Given the description of an element on the screen output the (x, y) to click on. 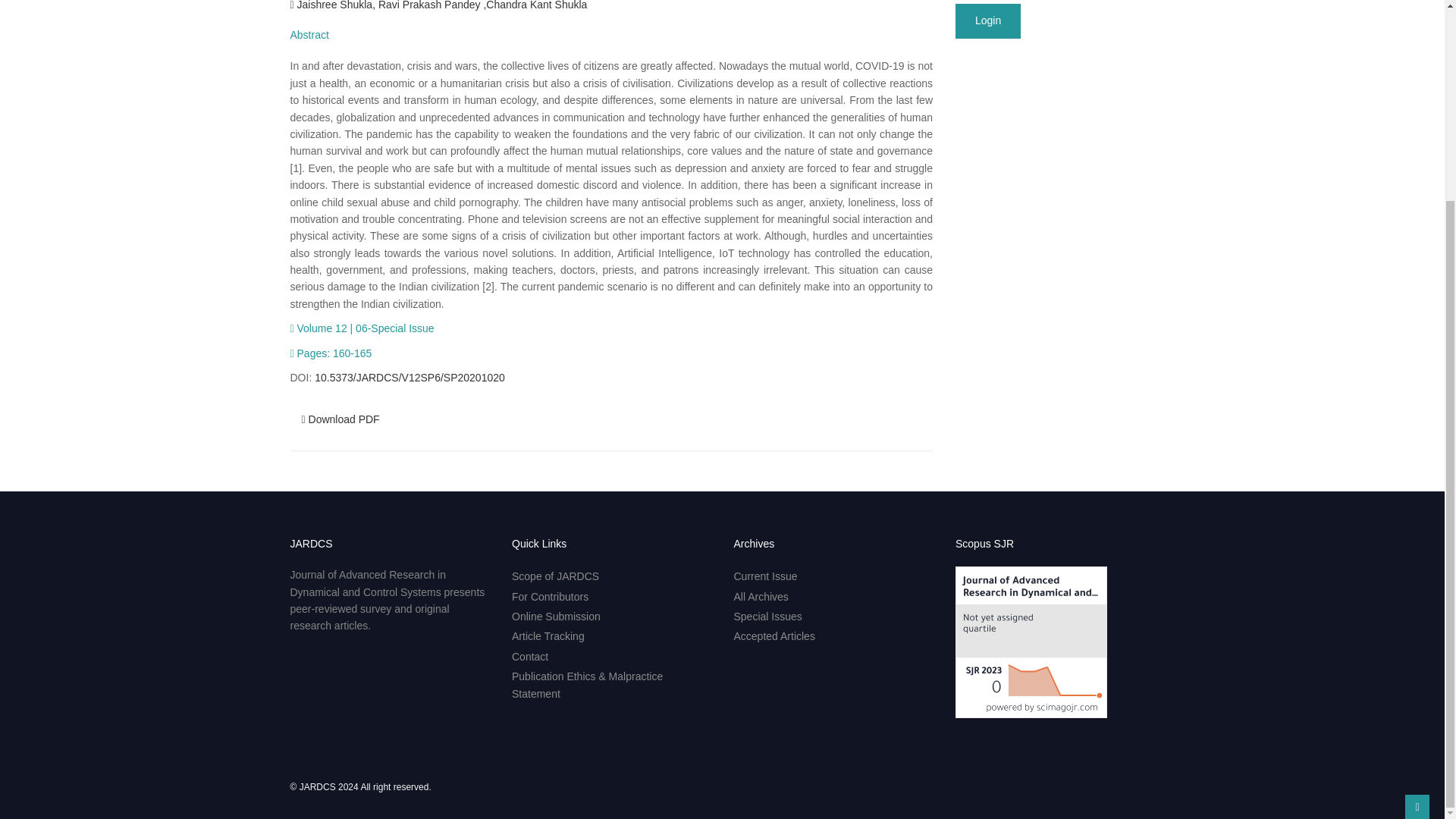
Contact (530, 656)
Online Submission (555, 616)
Login (987, 21)
Scope of JARDCS (555, 576)
Download PDF (340, 419)
Accepted Articles (774, 635)
Special Issues (767, 616)
Current Issue (765, 576)
Article Tracking (548, 635)
For Contributors (550, 596)
